Given the description of an element on the screen output the (x, y) to click on. 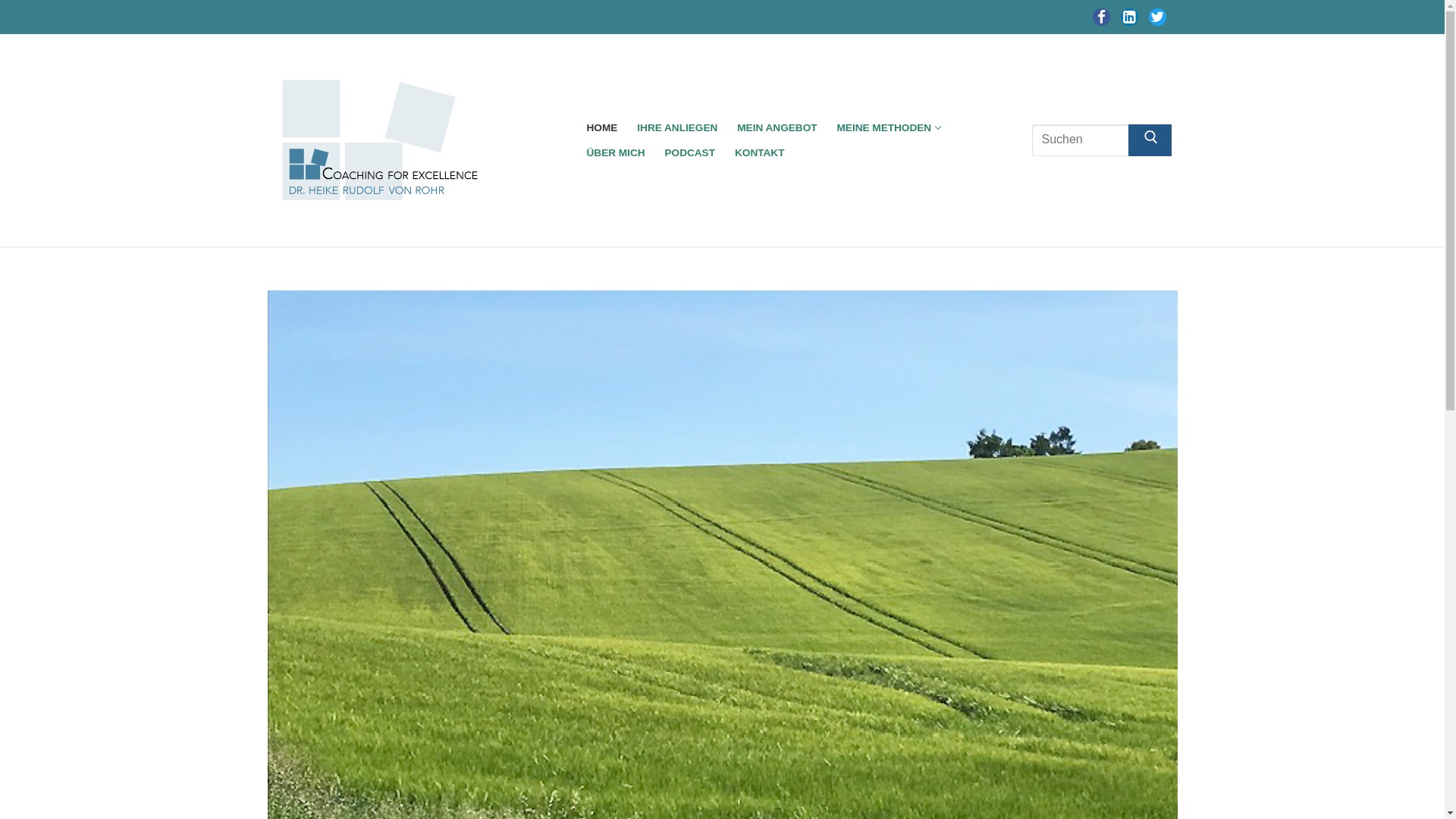
PODCAST Element type: text (689, 152)
MEIN ANGEBOT Element type: text (776, 127)
Facebook Element type: hover (1101, 16)
IHRE ANLIEGEN Element type: text (677, 127)
LinkedIn Element type: hover (1129, 16)
HOME Element type: text (601, 127)
MEINE METHODEN
  Element type: text (888, 127)
Suchen nach: Element type: hover (1101, 139)
KONTAKT Element type: text (758, 152)
Twitter Element type: hover (1157, 16)
